Given the description of an element on the screen output the (x, y) to click on. 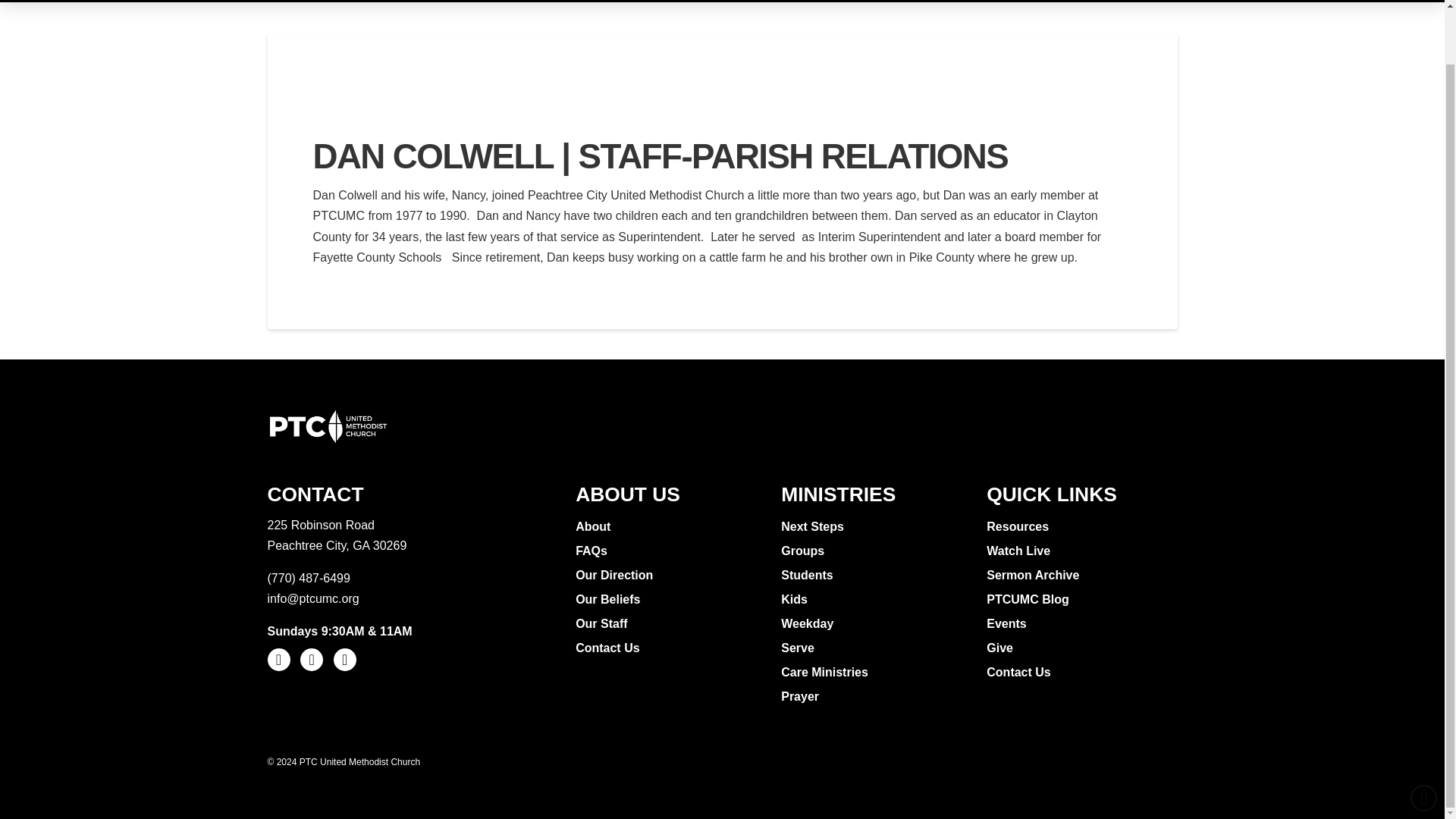
GIVE (911, 1)
Sermon Archive (1035, 575)
Resources (1019, 526)
Prayer (801, 696)
MINISTRIES (636, 1)
Events (1008, 623)
Next Steps (813, 526)
EVENTS (842, 1)
Our Beliefs (609, 599)
Contact Us (609, 648)
Contact Us (1020, 672)
Kids (795, 599)
Back to Top (1423, 739)
Weekday (808, 623)
ABOUT (547, 1)
